Given the description of an element on the screen output the (x, y) to click on. 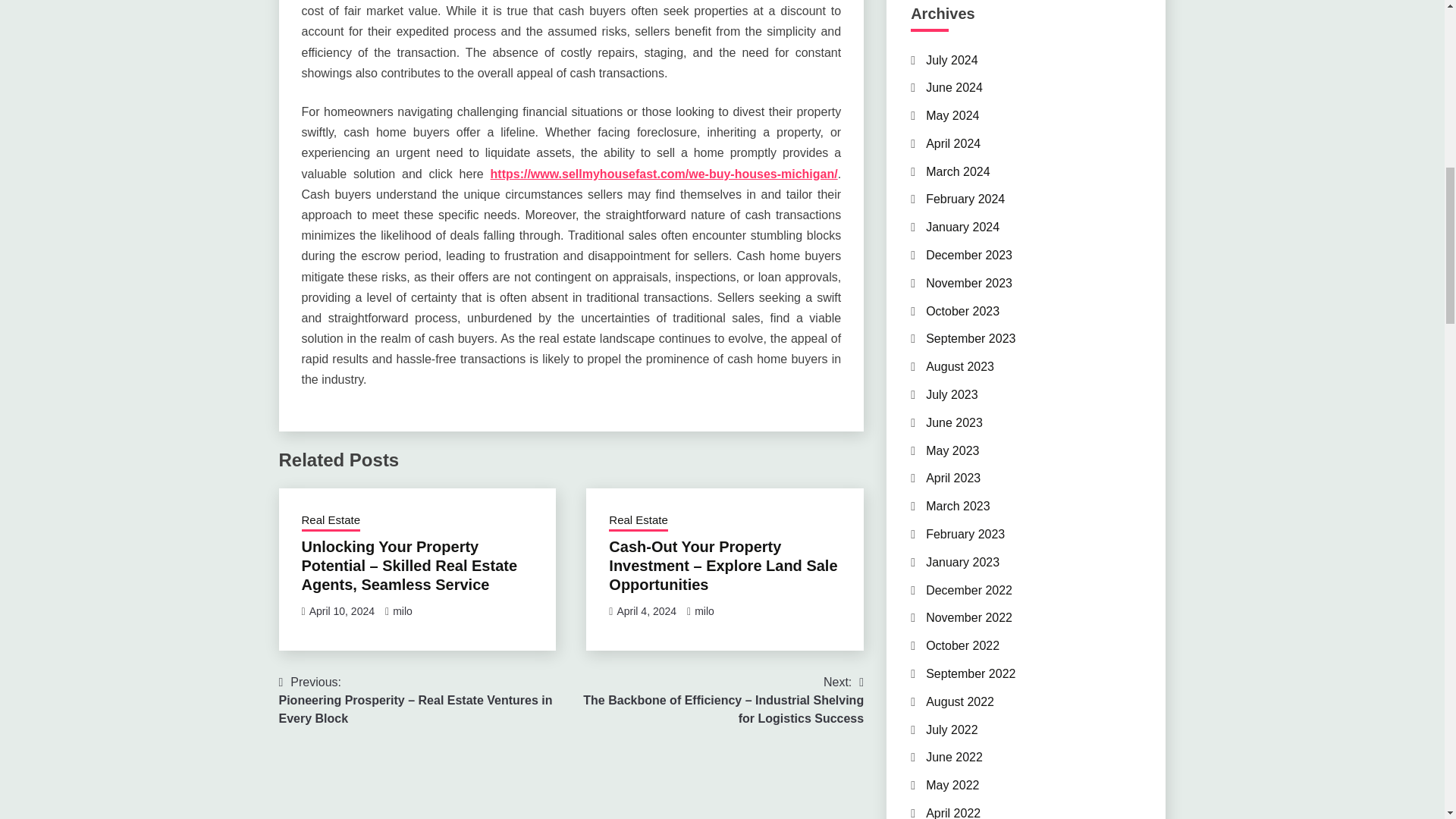
January 2024 (962, 226)
Real Estate (638, 521)
Real Estate (331, 521)
April 10, 2024 (341, 611)
April 2024 (952, 143)
July 2024 (952, 59)
March 2024 (958, 171)
milo (402, 611)
May 2024 (952, 115)
milo (704, 611)
